Given the description of an element on the screen output the (x, y) to click on. 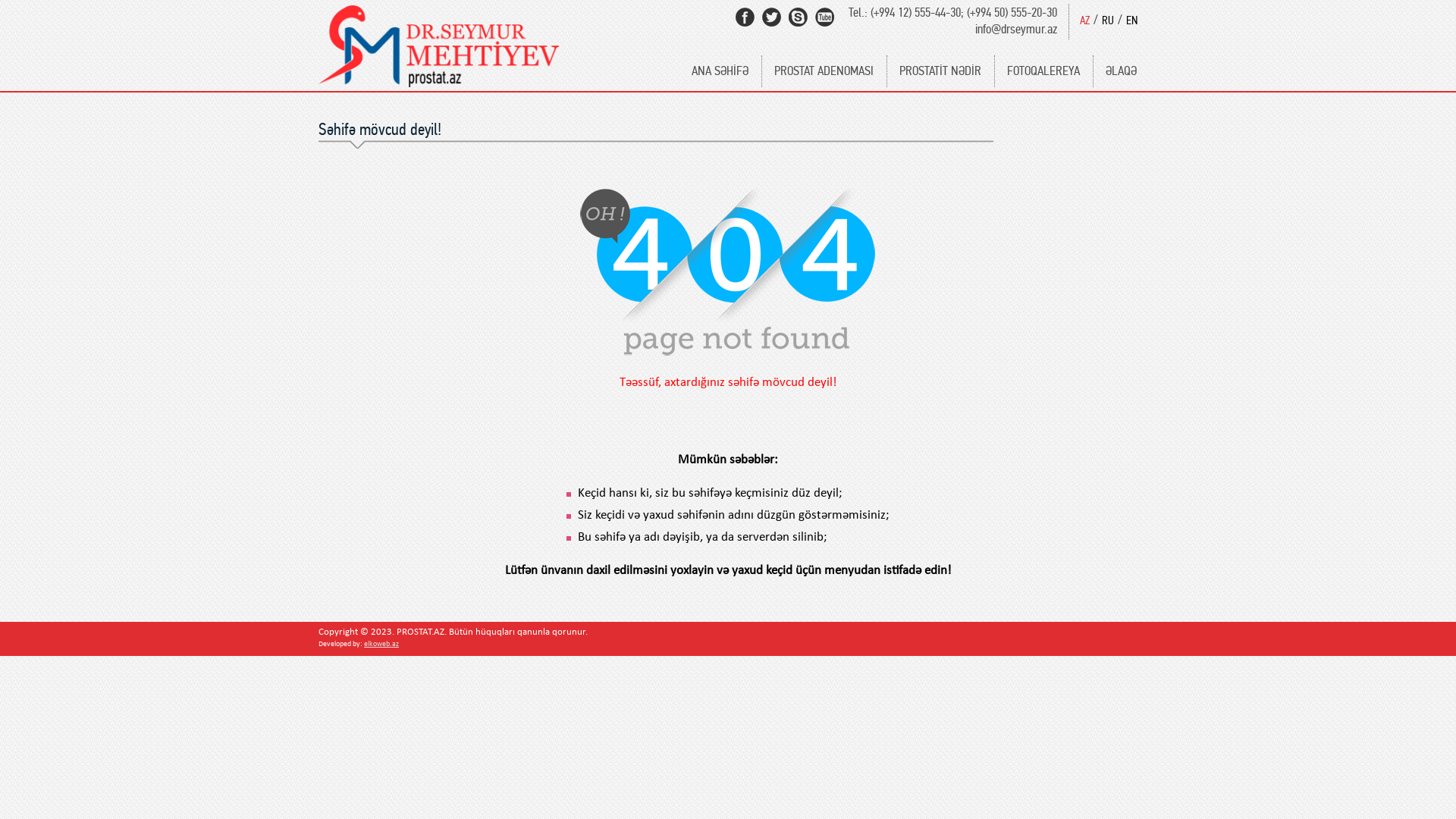
AZ Element type: text (1084, 20)
FOTOQALEREYA Element type: text (1043, 71)
Facebook Element type: text (744, 16)
Varikosel.az Element type: hover (438, 78)
RU Element type: text (1107, 20)
EN Element type: text (1131, 20)
PROSTAT ADENOMASI Element type: text (823, 71)
404-error Element type: hover (727, 270)
info@drseymur.az Element type: text (1016, 28)
Twitter Element type: text (771, 16)
elkoweb.az Element type: text (381, 644)
